Given the description of an element on the screen output the (x, y) to click on. 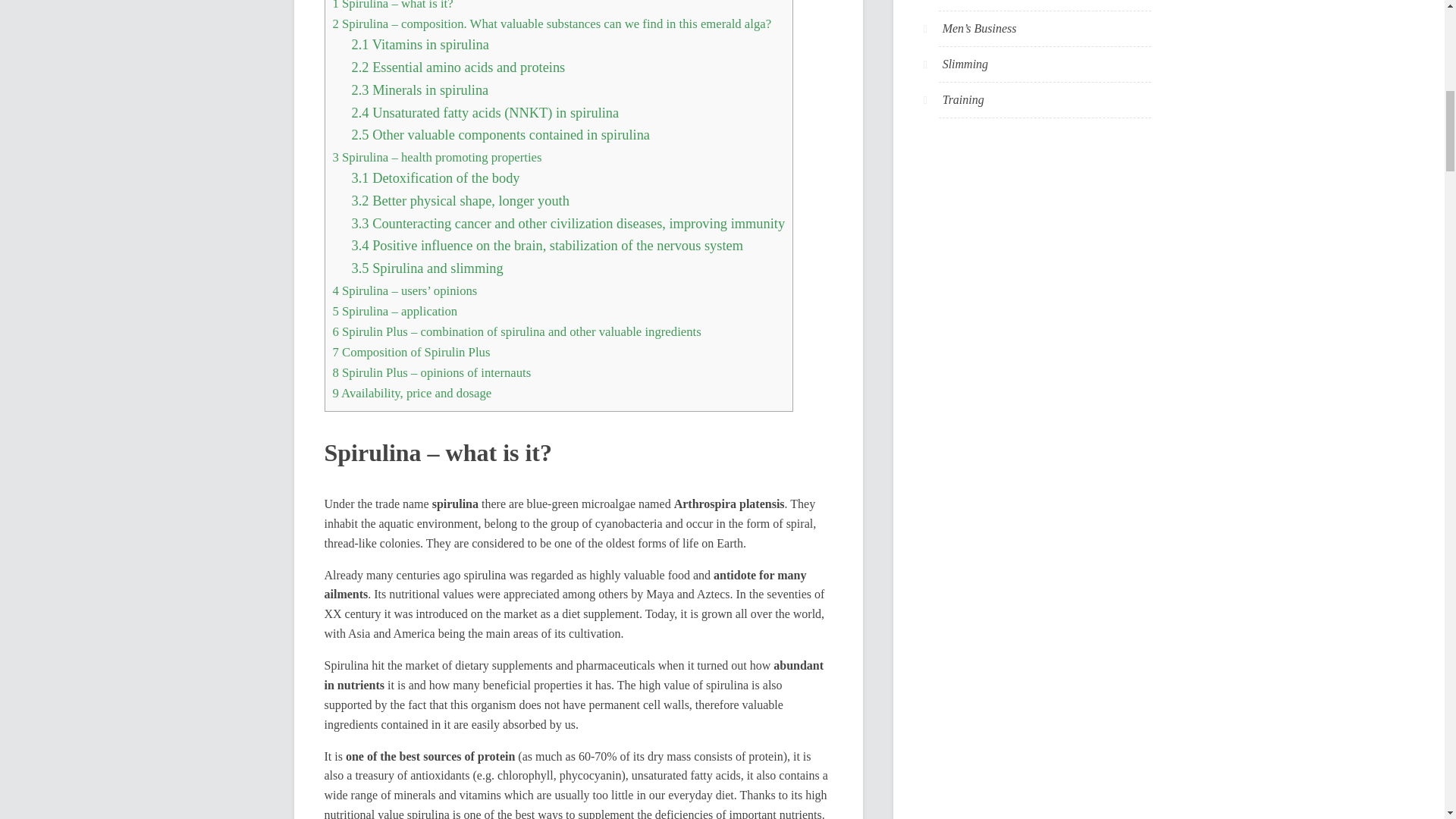
2.1 Vitamins in spirulina (420, 44)
2.5 Other valuable components contained in spirulina (500, 134)
3.1 Detoxification of the body (435, 177)
2.3 Minerals in spirulina (420, 89)
2.2 Essential amino acids and proteins (459, 67)
